Given the description of an element on the screen output the (x, y) to click on. 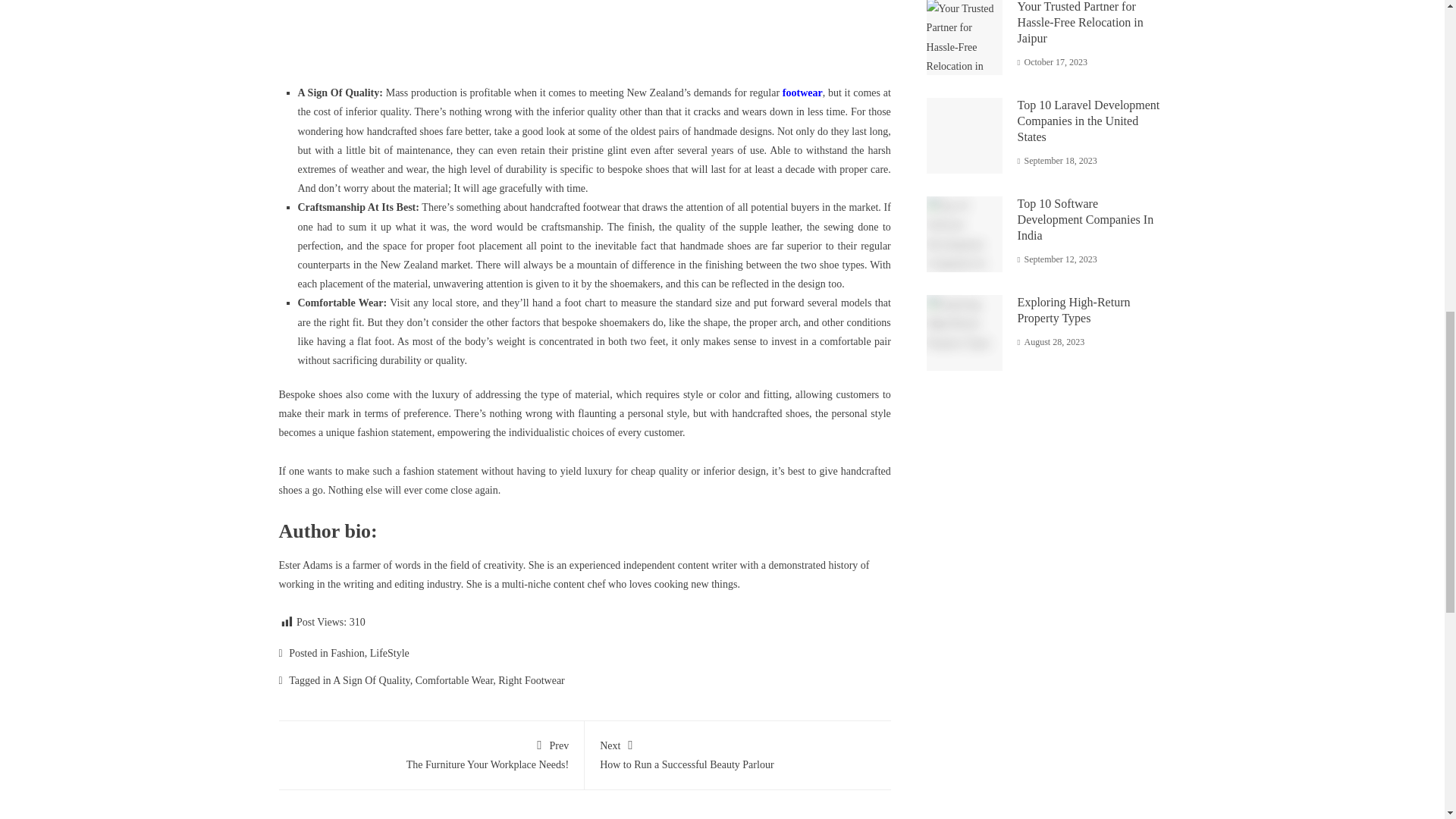
flat foot (372, 341)
LifeStyle (389, 653)
footwear (802, 92)
Comfortable Wear (453, 680)
Fashion (347, 653)
Right Footwear (530, 680)
A Sign Of Quality (431, 753)
